Given the description of an element on the screen output the (x, y) to click on. 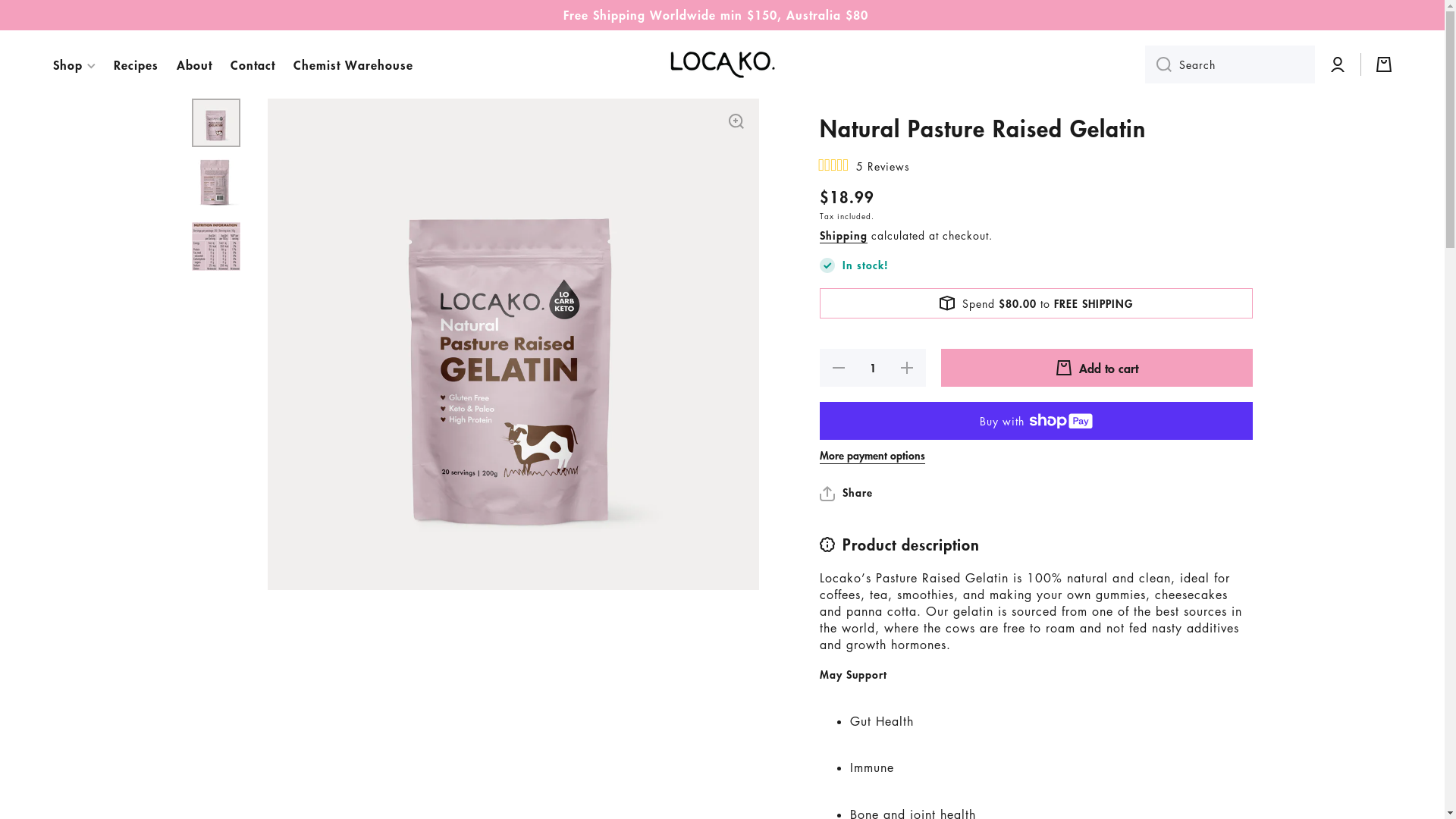
Shop Element type: text (74, 64)
Recipes Element type: text (135, 64)
Decrease quantity for Natural Pasture Raised Gelatin Element type: text (837, 367)
Add to cart Element type: text (1097, 367)
Shipping Element type: text (843, 235)
Skip to product information Element type: text (266, 97)
About Element type: text (194, 64)
Cart Element type: text (1383, 64)
Contact Element type: text (252, 64)
Log in Element type: text (1337, 64)
Increase quantity for Natural Pasture Raised Gelatin Element type: text (907, 367)
Chemist Warehouse Element type: text (353, 64)
More payment options Element type: text (872, 455)
